Given the description of an element on the screen output the (x, y) to click on. 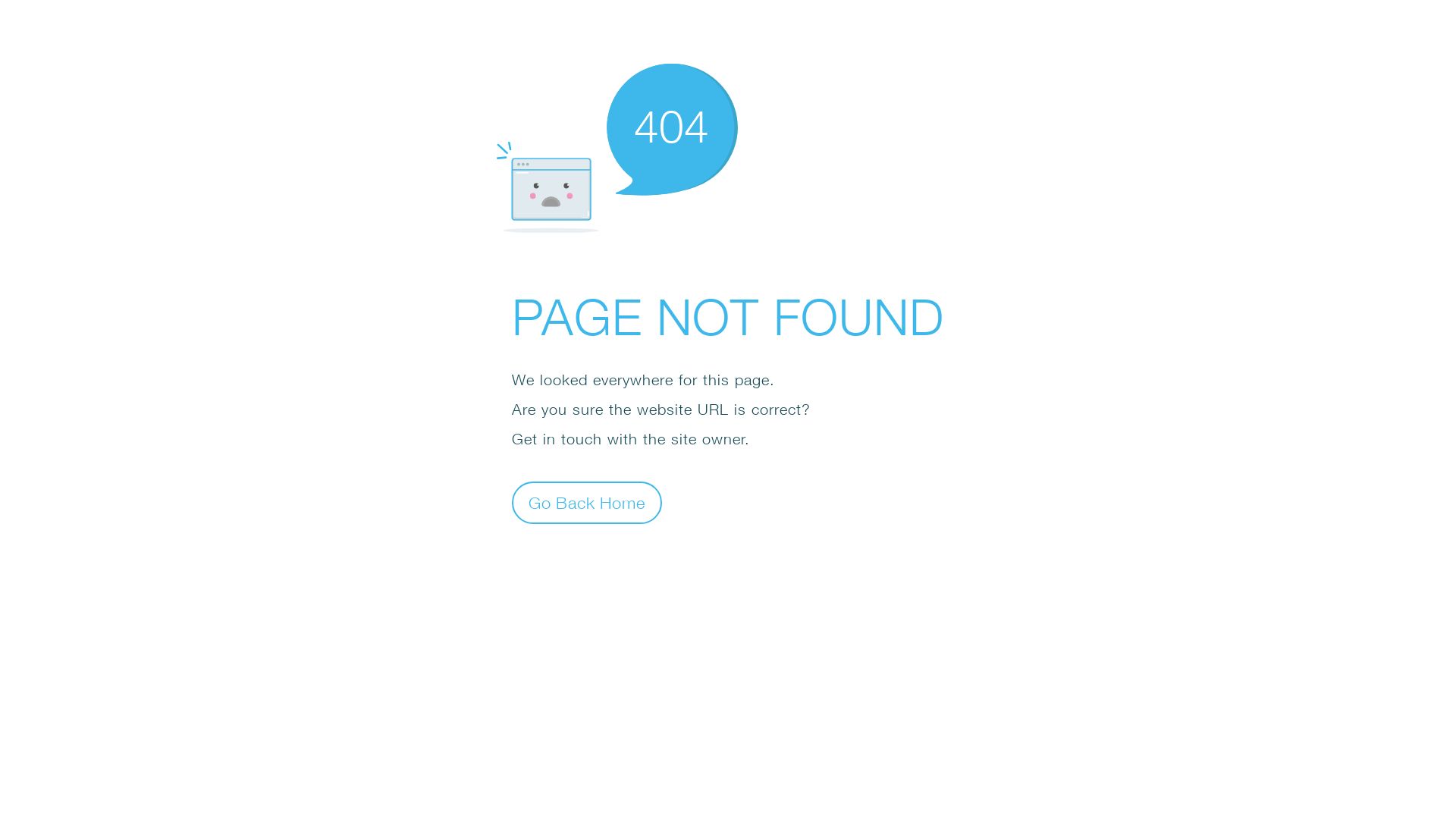
Go Back Home Element type: text (586, 502)
